Given the description of an element on the screen output the (x, y) to click on. 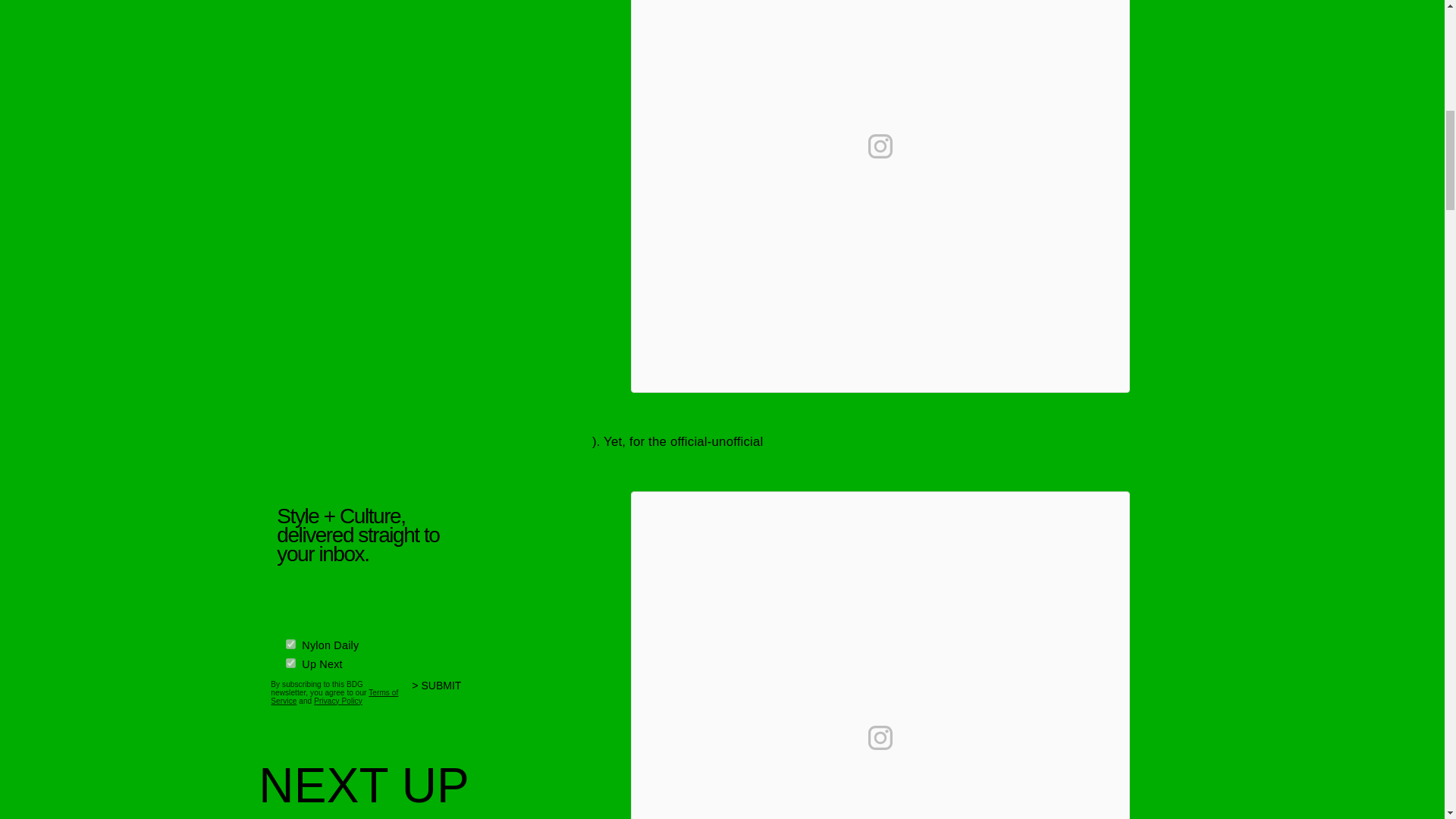
View on Instagram (879, 737)
Privacy Policy (338, 700)
Terms of Service (333, 696)
View on Instagram (879, 145)
SUBMIT (443, 695)
